Given the description of an element on the screen output the (x, y) to click on. 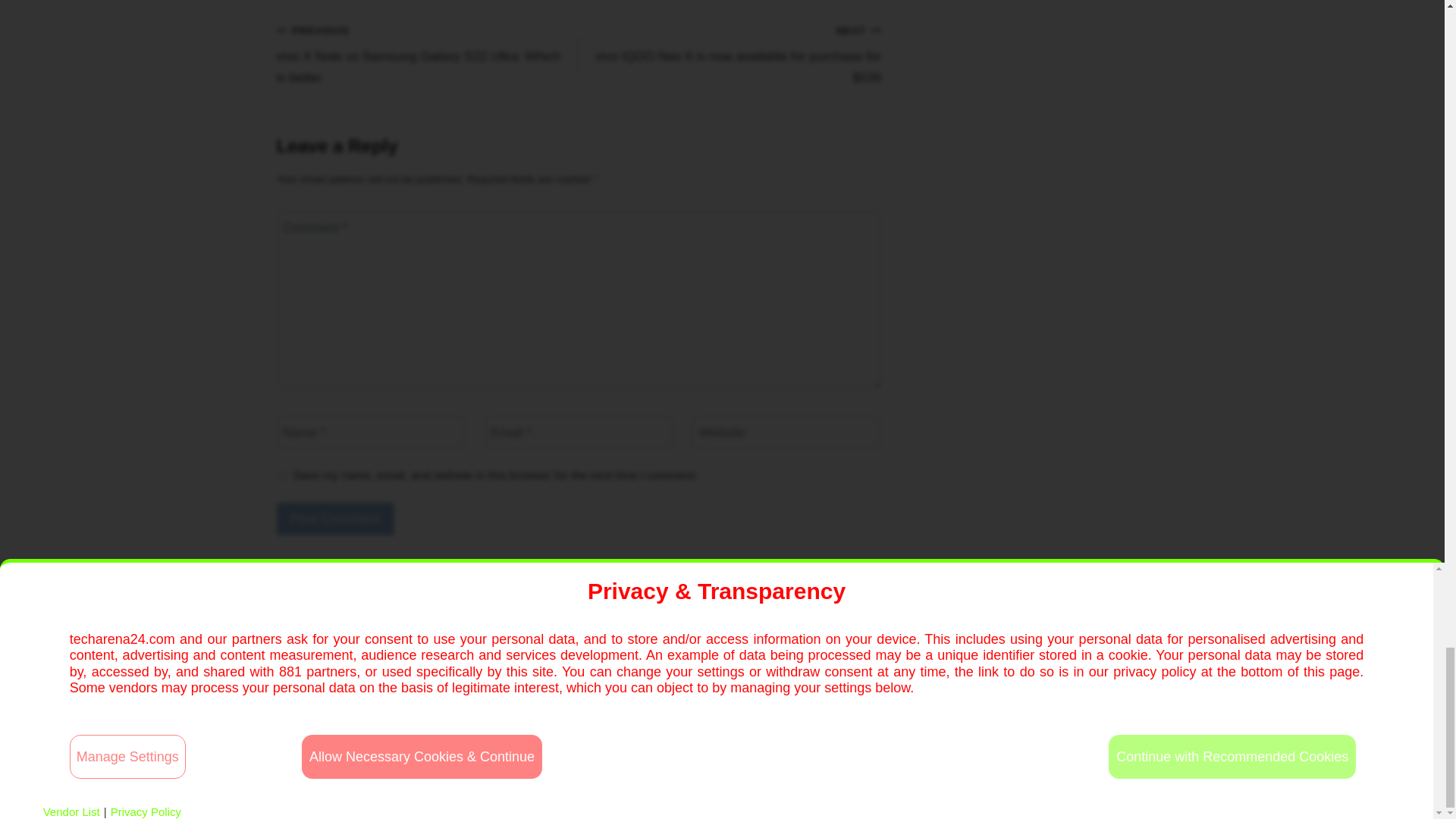
Post Comment (334, 518)
yes (280, 475)
